Given the description of an element on the screen output the (x, y) to click on. 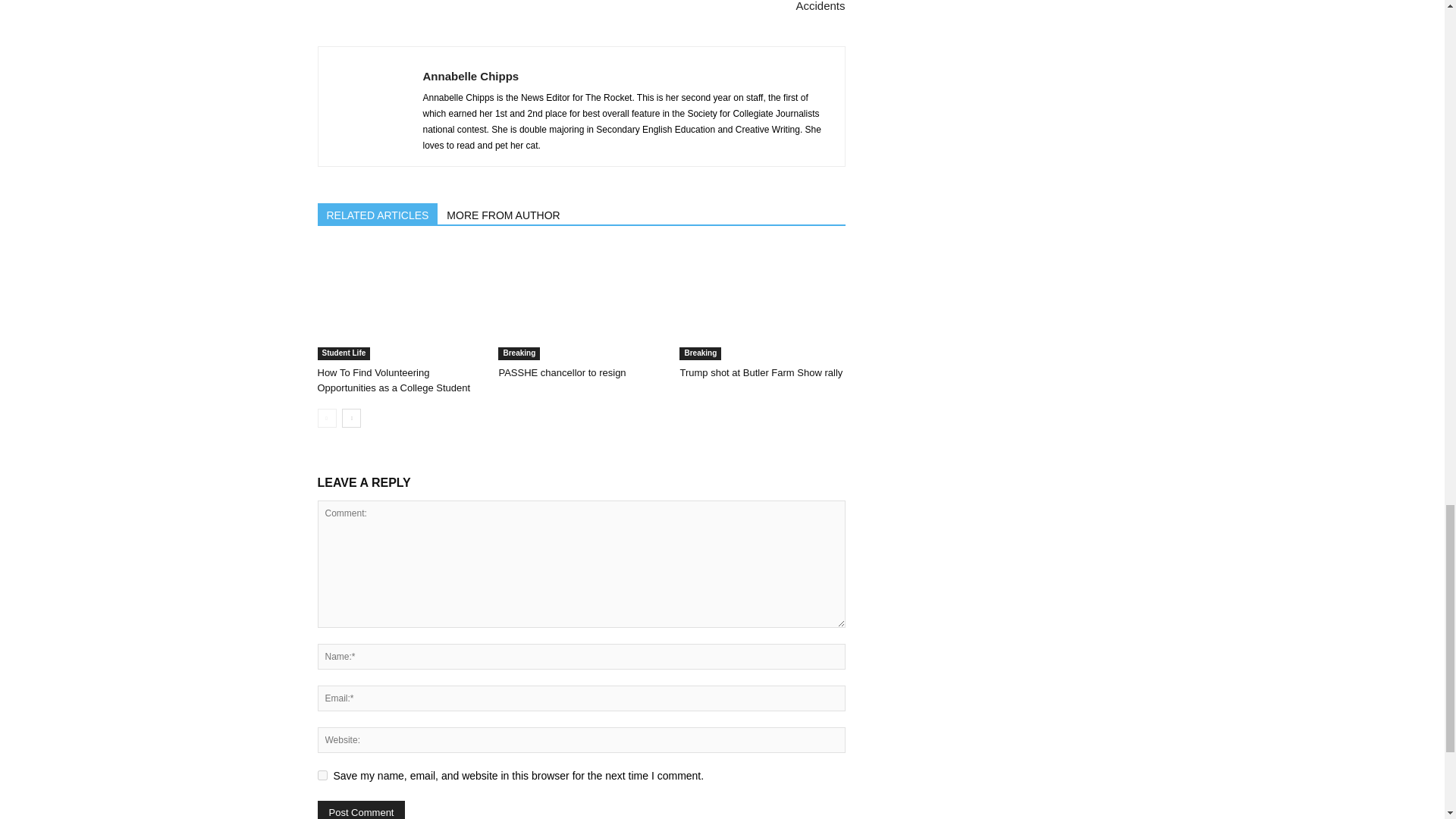
yes (321, 775)
How To Find Volunteering Opportunities as a College Student (399, 303)
PASSHE chancellor to resign (580, 303)
How To Find Volunteering Opportunities as a College Student (393, 379)
Post Comment (360, 809)
